Given the description of an element on the screen output the (x, y) to click on. 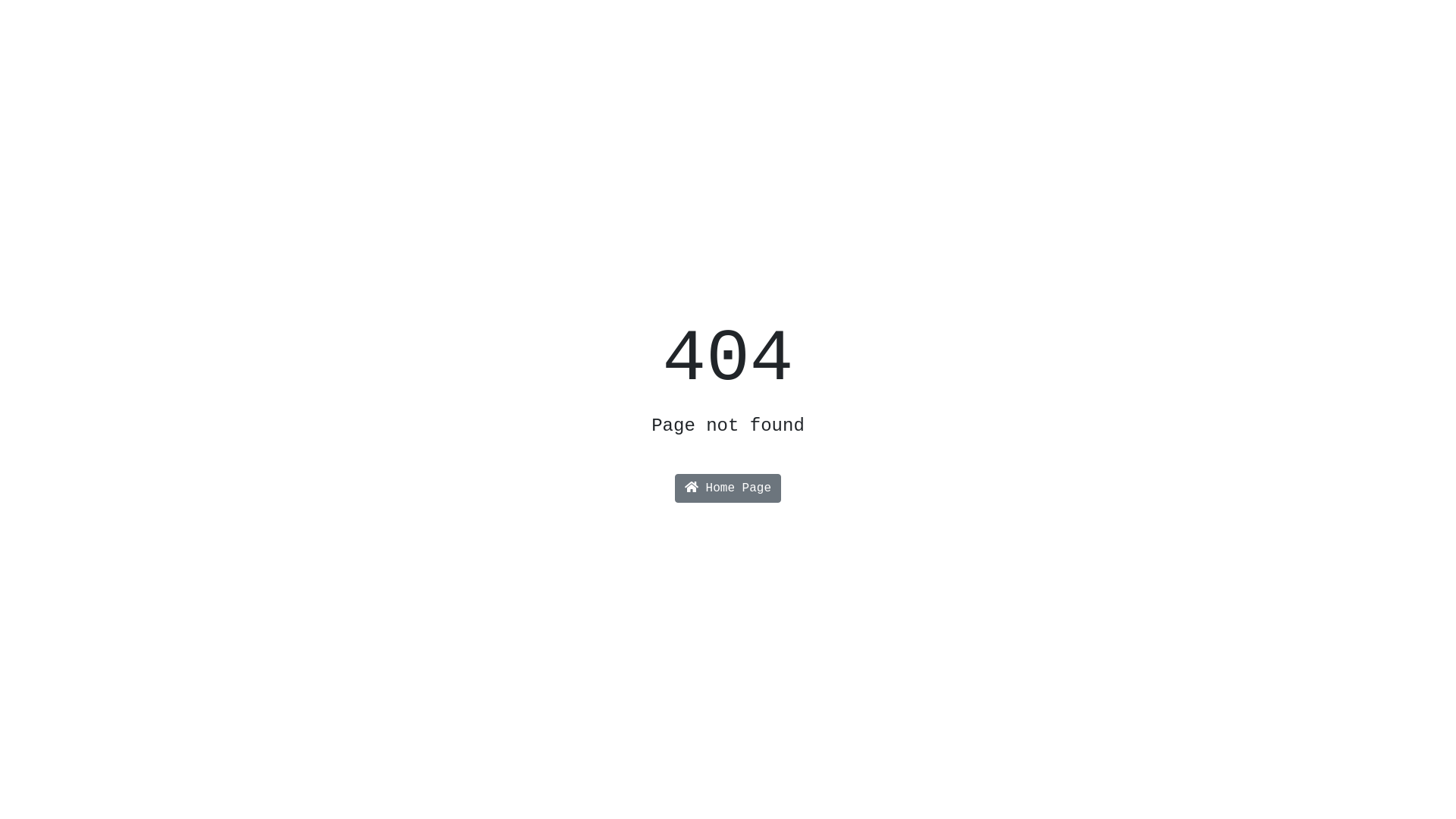
Home Page Element type: text (727, 487)
